Given the description of an element on the screen output the (x, y) to click on. 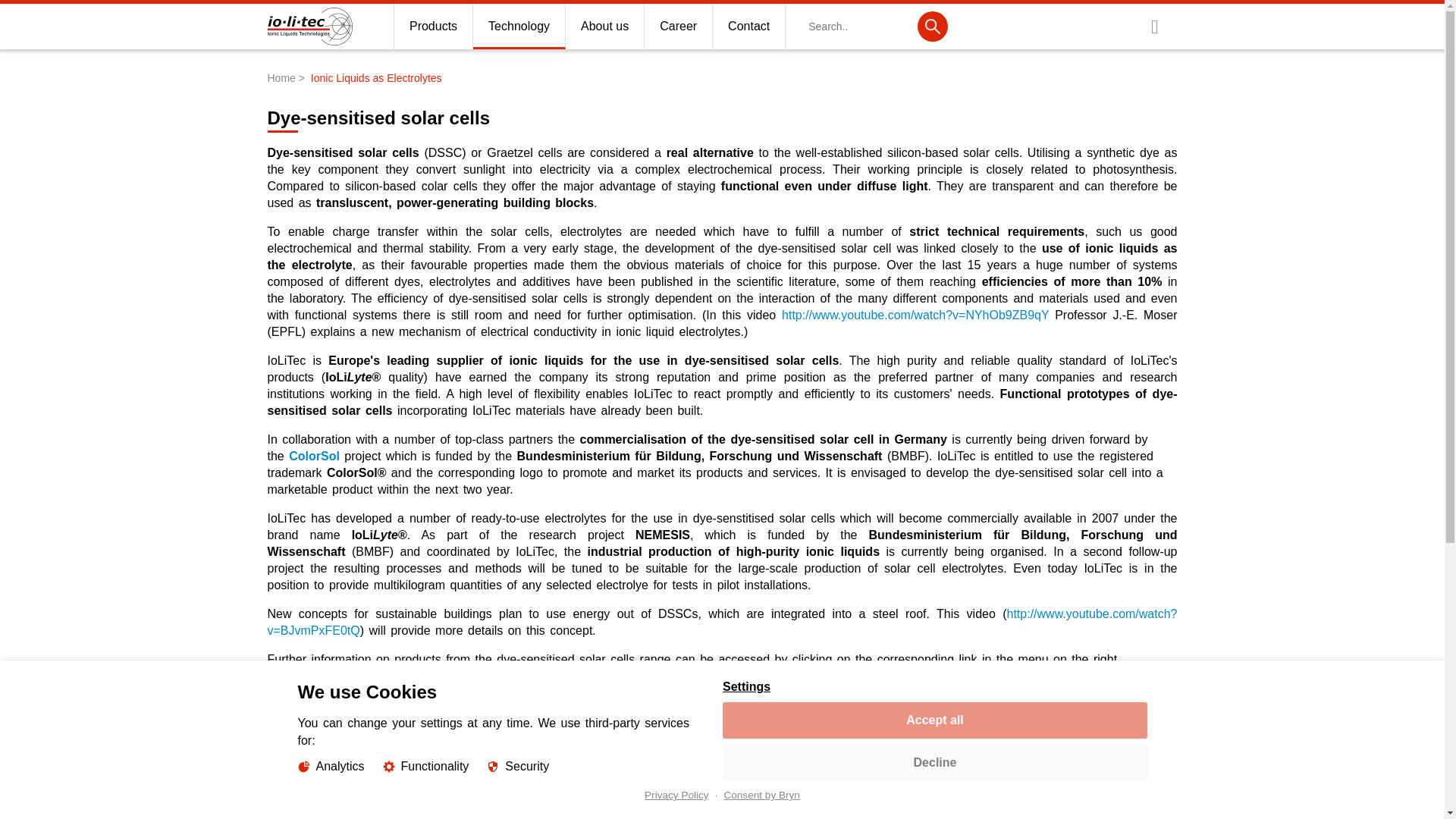
Home (309, 44)
Go to previous page (467, 792)
Go to next page (793, 792)
Enter the terms you wish to search for. (877, 26)
Search (932, 26)
